Given the description of an element on the screen output the (x, y) to click on. 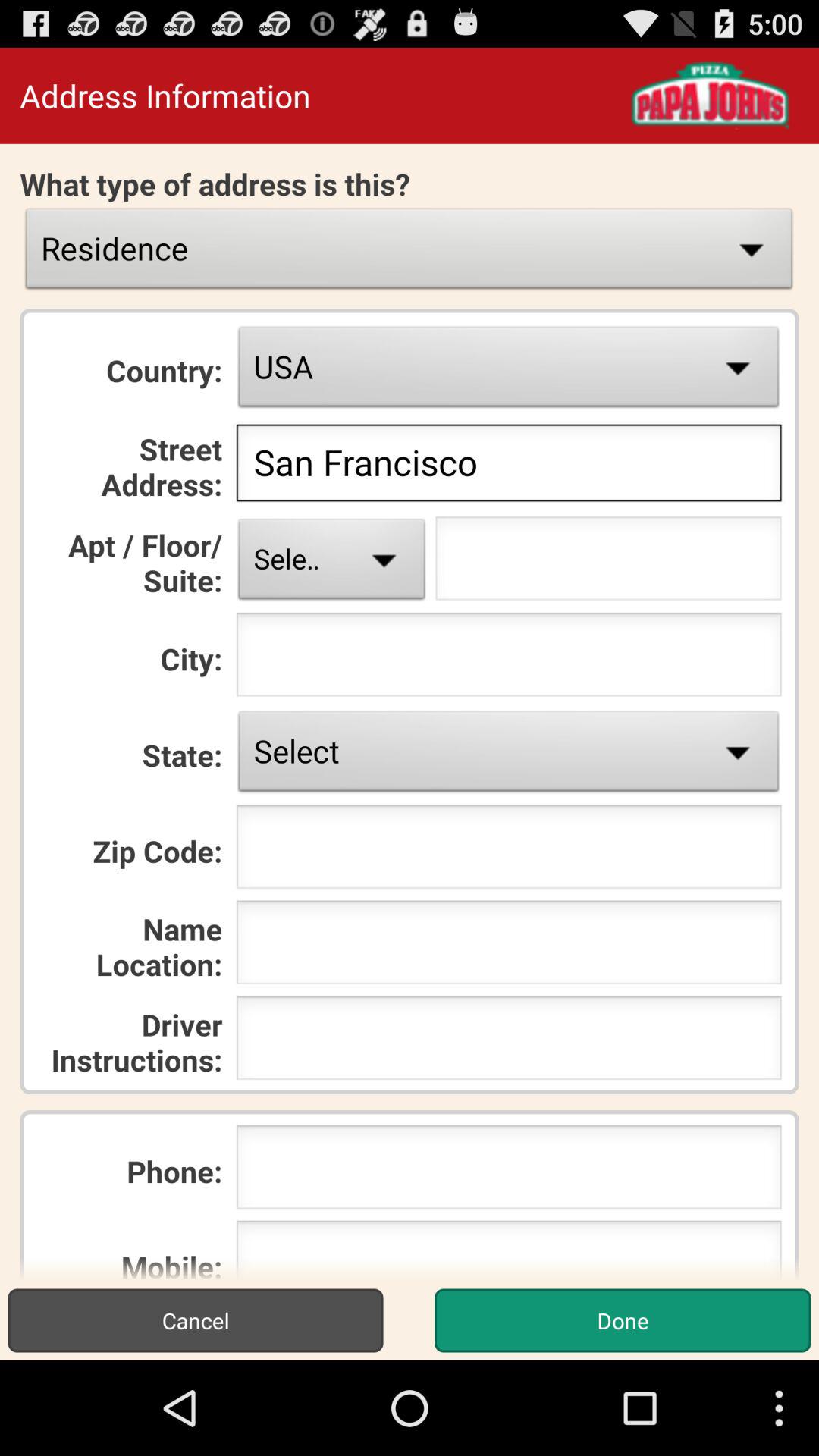
location name icon (508, 946)
